Given the description of an element on the screen output the (x, y) to click on. 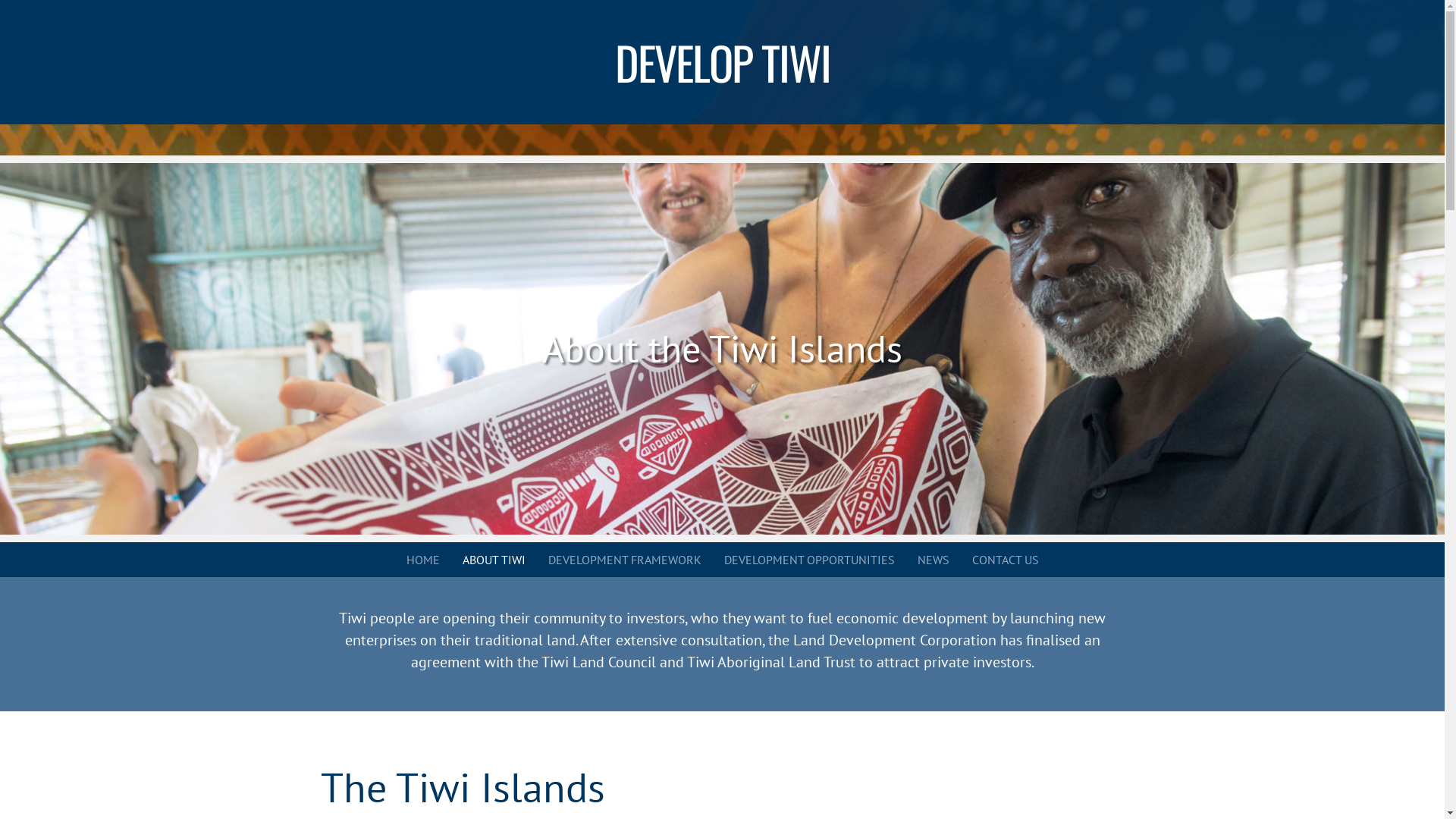
CONTACT US Element type: text (1005, 559)
NEWS Element type: text (933, 559)
HOME Element type: text (422, 559)
ABOUT TIWI Element type: text (494, 559)
DEVELOP TIWI Element type: text (721, 61)
DEVELOPMENT FRAMEWORK Element type: text (623, 559)
DEVELOPMENT OPPORTUNITIES Element type: text (808, 559)
